Given the description of an element on the screen output the (x, y) to click on. 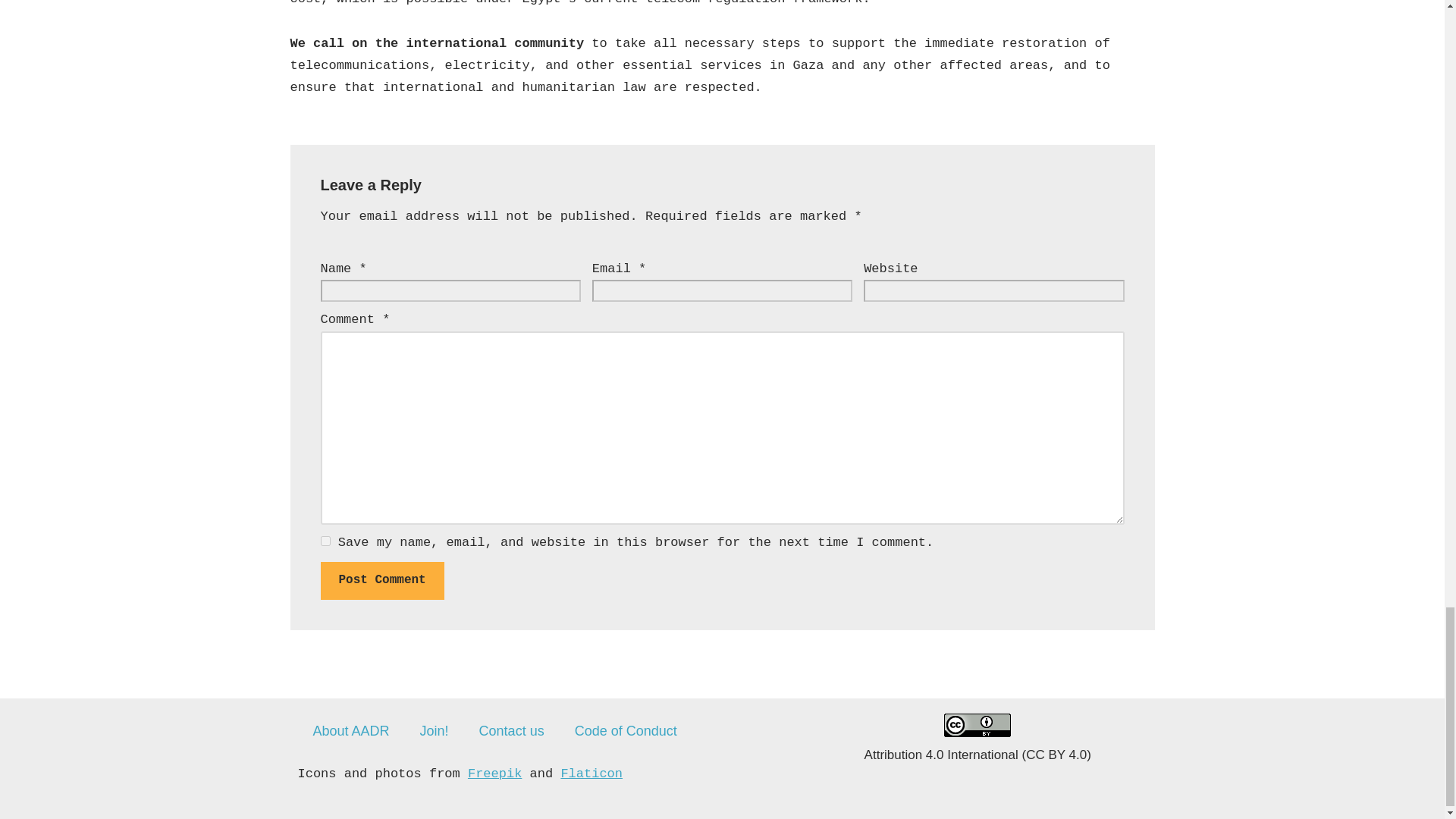
Post Comment (382, 580)
yes (325, 541)
